Given the description of an element on the screen output the (x, y) to click on. 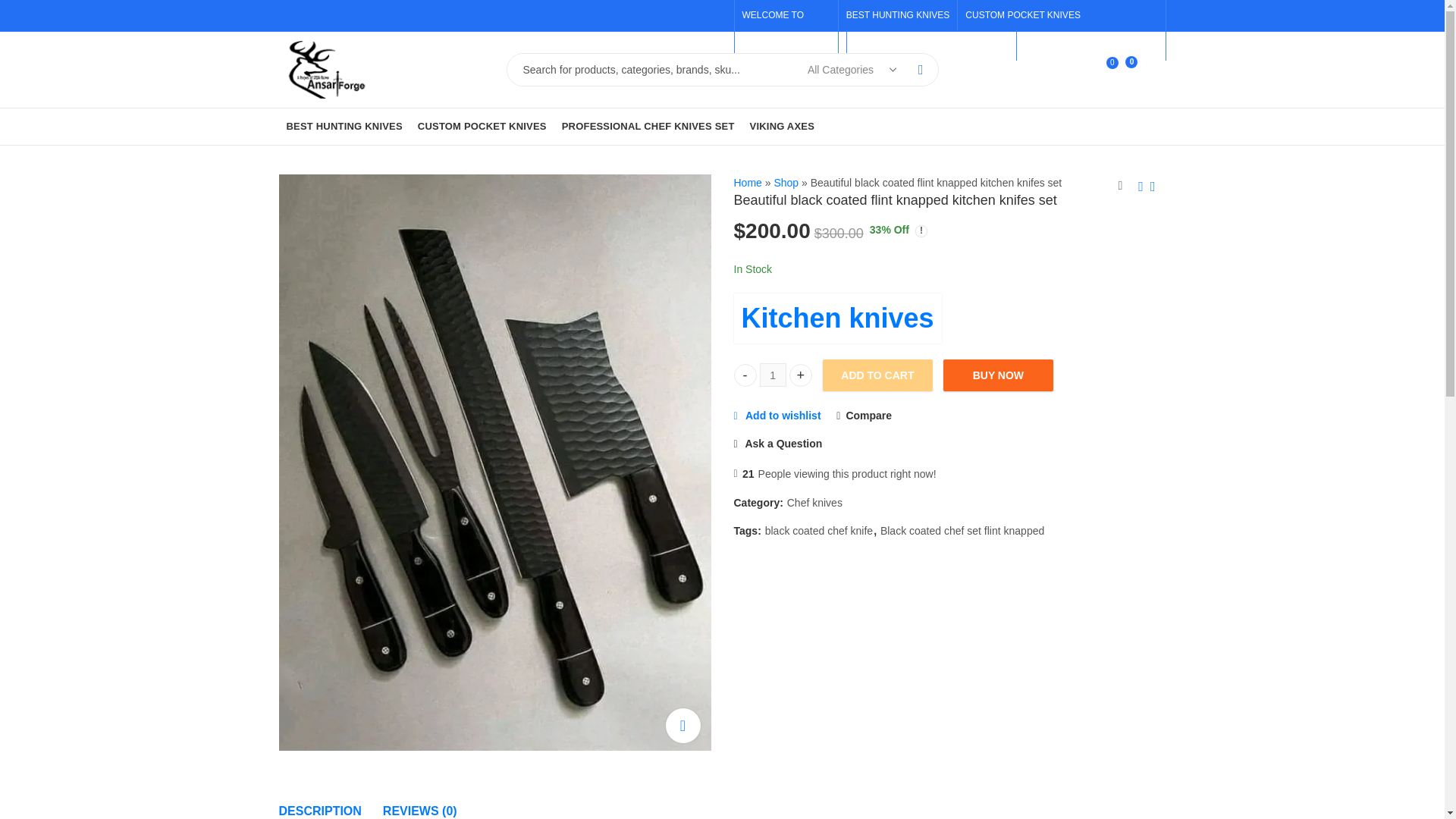
Kitchen knives (837, 318)
CUSTOM POCKET KNIVES (482, 126)
VIKING AXES (1048, 45)
SEARCH (920, 69)
- (745, 374)
BEST HUNTING KNIVES (344, 126)
PROFESSIONAL CHEF KNIVES SET (648, 126)
1 (773, 374)
BEST HUNTING KNIVES (900, 15)
Qty (773, 374)
CUSTOM POCKET KNIVES (1022, 15)
VIKING AXES (782, 126)
Home (1064, 70)
Lightbox (747, 182)
